Given the description of an element on the screen output the (x, y) to click on. 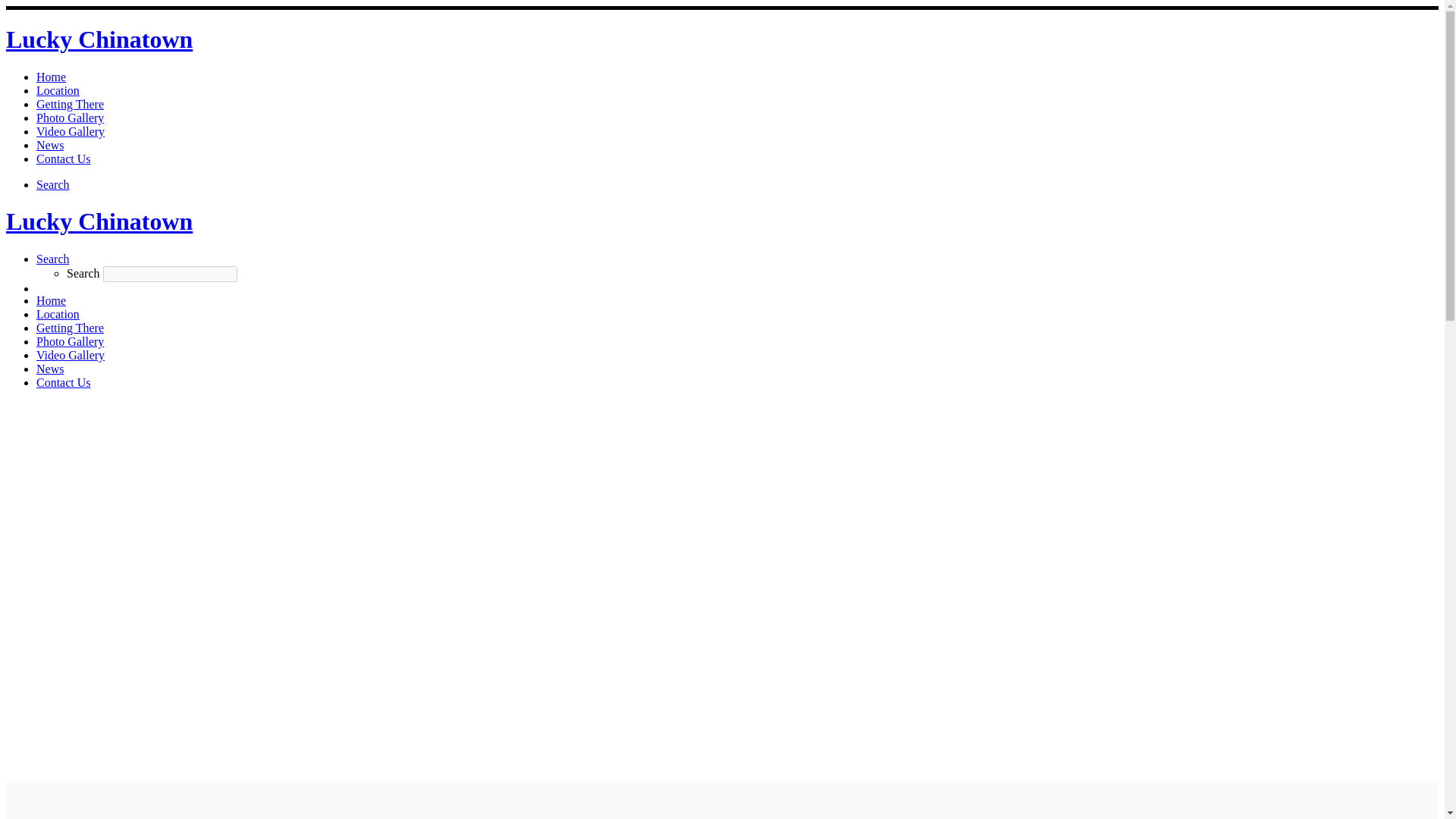
Location (58, 314)
Getting There (69, 327)
Video Gallery (70, 354)
Home (50, 300)
Lucky Chinatown (98, 221)
Lucky Chinatown (98, 39)
Location (58, 90)
Search (52, 258)
Video Gallery (70, 131)
Photo Gallery (69, 341)
